Given the description of an element on the screen output the (x, y) to click on. 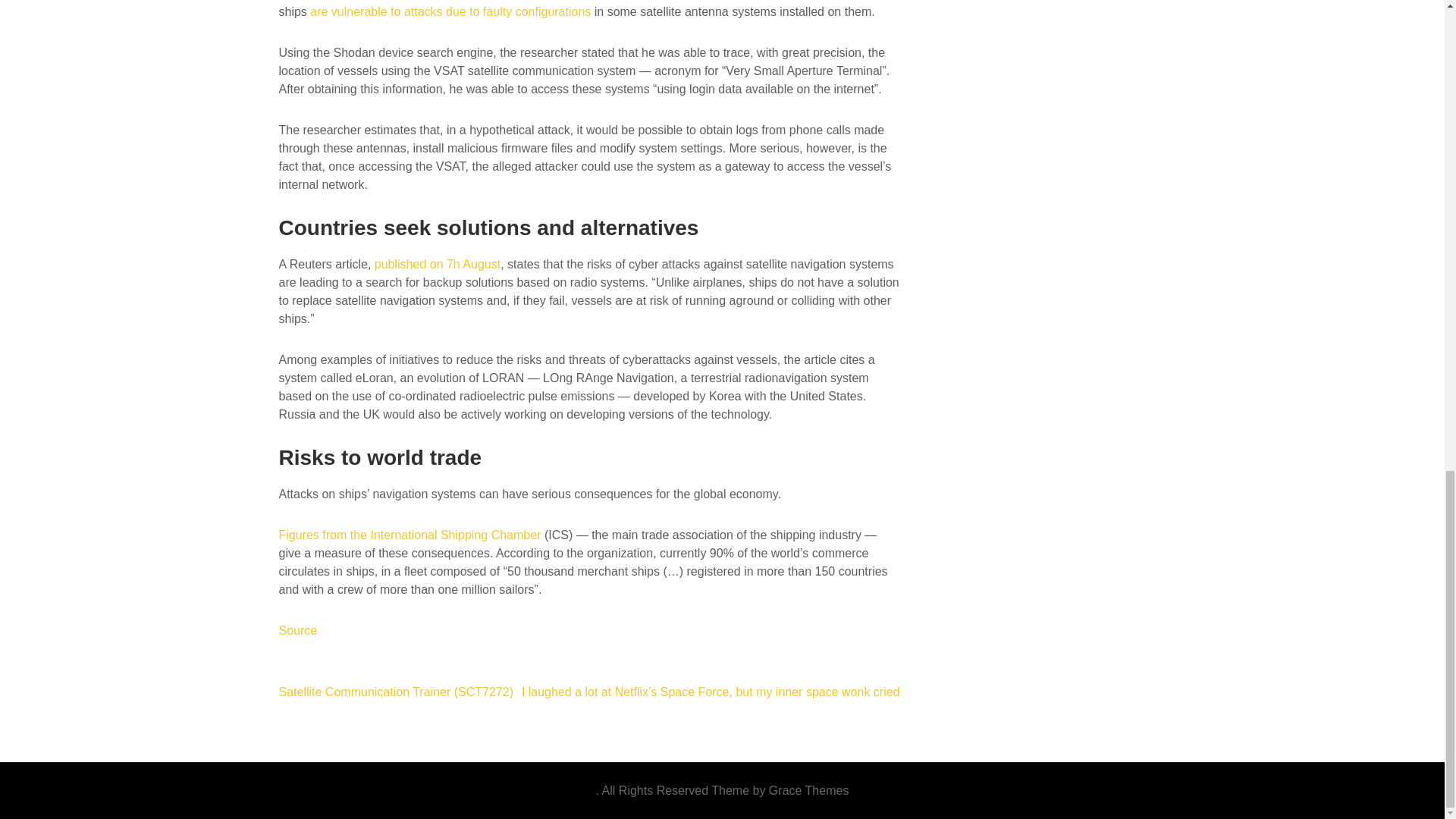
Figures from the International Shipping Chamber (410, 534)
published on 7h August (437, 264)
are vulnerable to attacks due to faulty configurations (450, 11)
Source (298, 630)
